Given the description of an element on the screen output the (x, y) to click on. 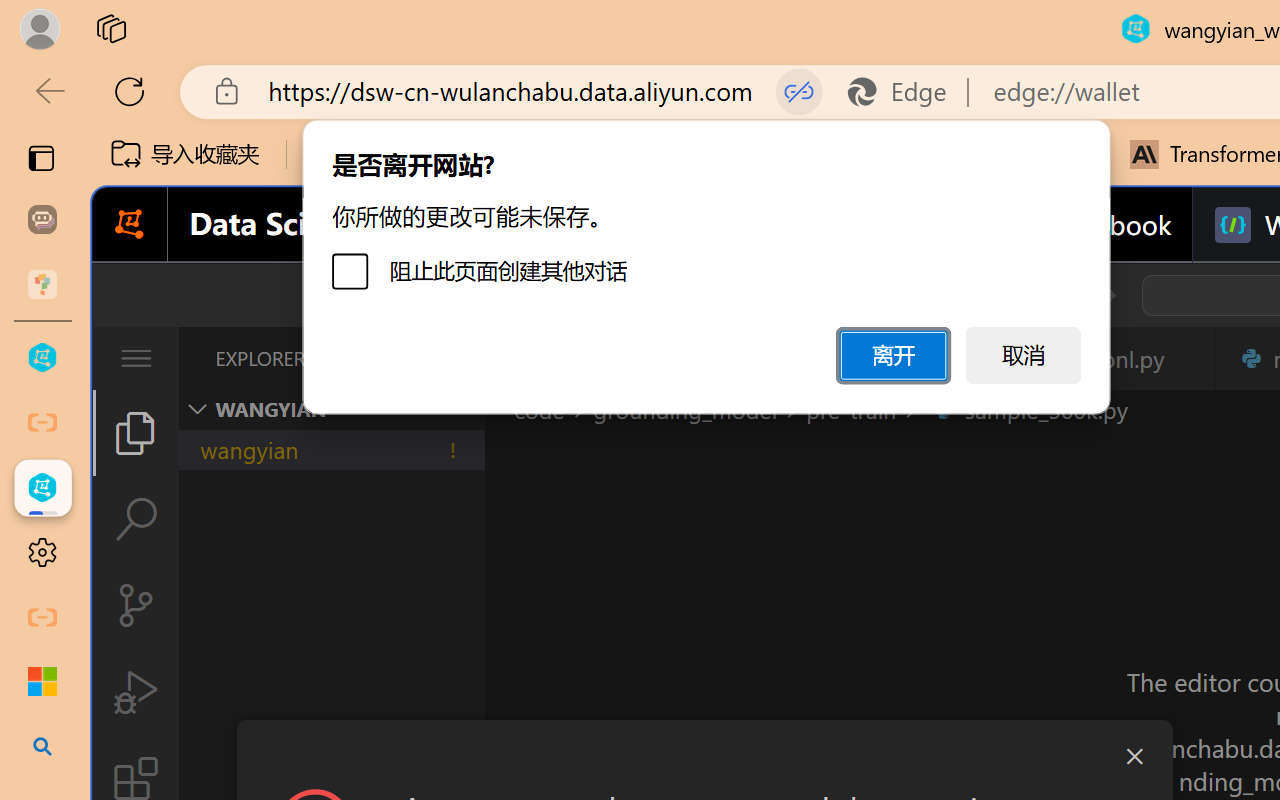
Class: actions-container (703, 756)
Microsoft security help and learning (42, 681)
Run and Debug (Ctrl+Shift+D) (135, 692)
Search (Ctrl+Shift+F) (135, 519)
Application Menu (135, 358)
Explorer (Ctrl+Shift+E) (135, 432)
wangyian_dsw - DSW (42, 357)
wangyian_webcrawler - DSW (42, 487)
